Given the description of an element on the screen output the (x, y) to click on. 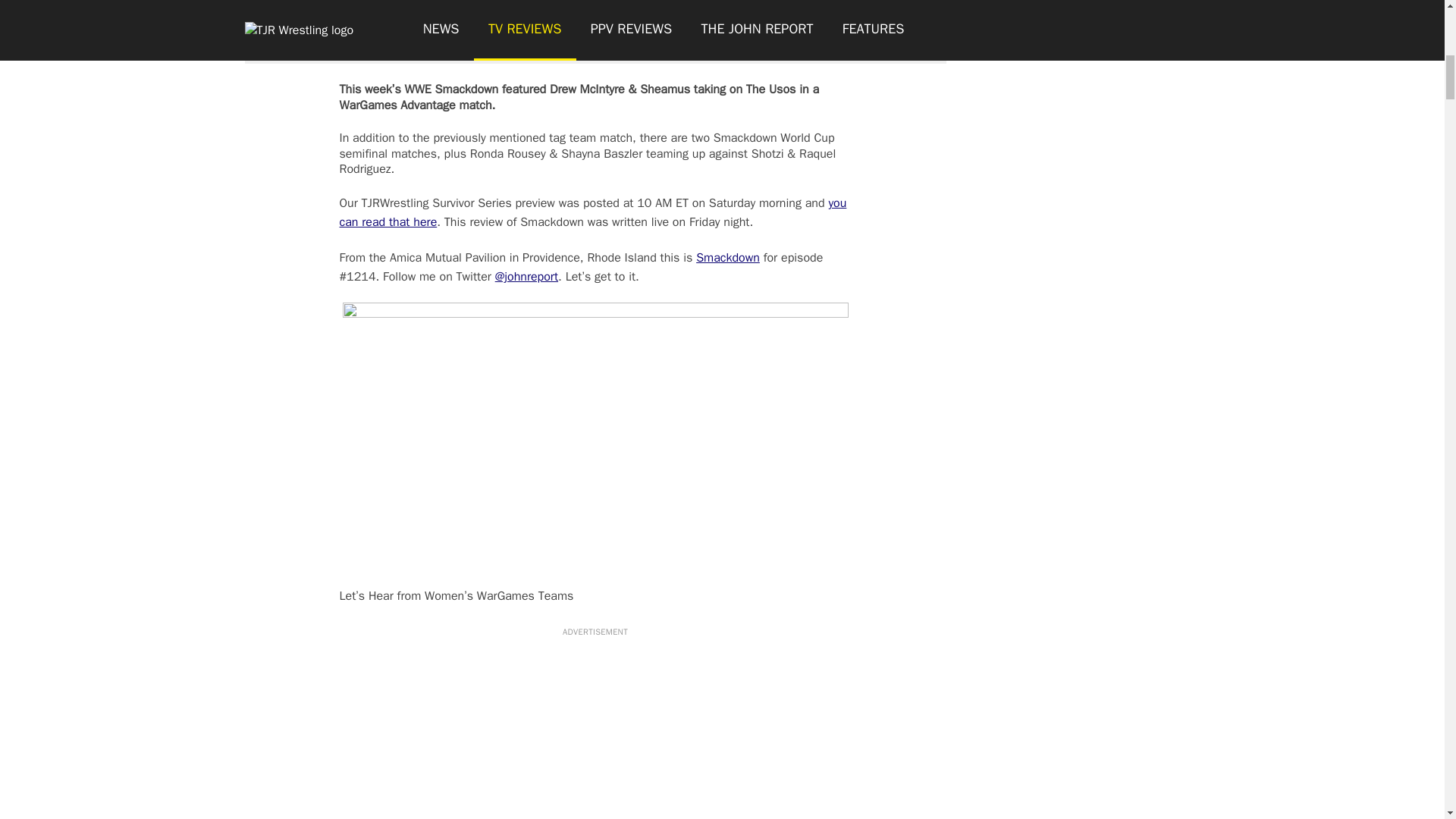
you can read that here (593, 212)
Smackdown (727, 257)
